Given the description of an element on the screen output the (x, y) to click on. 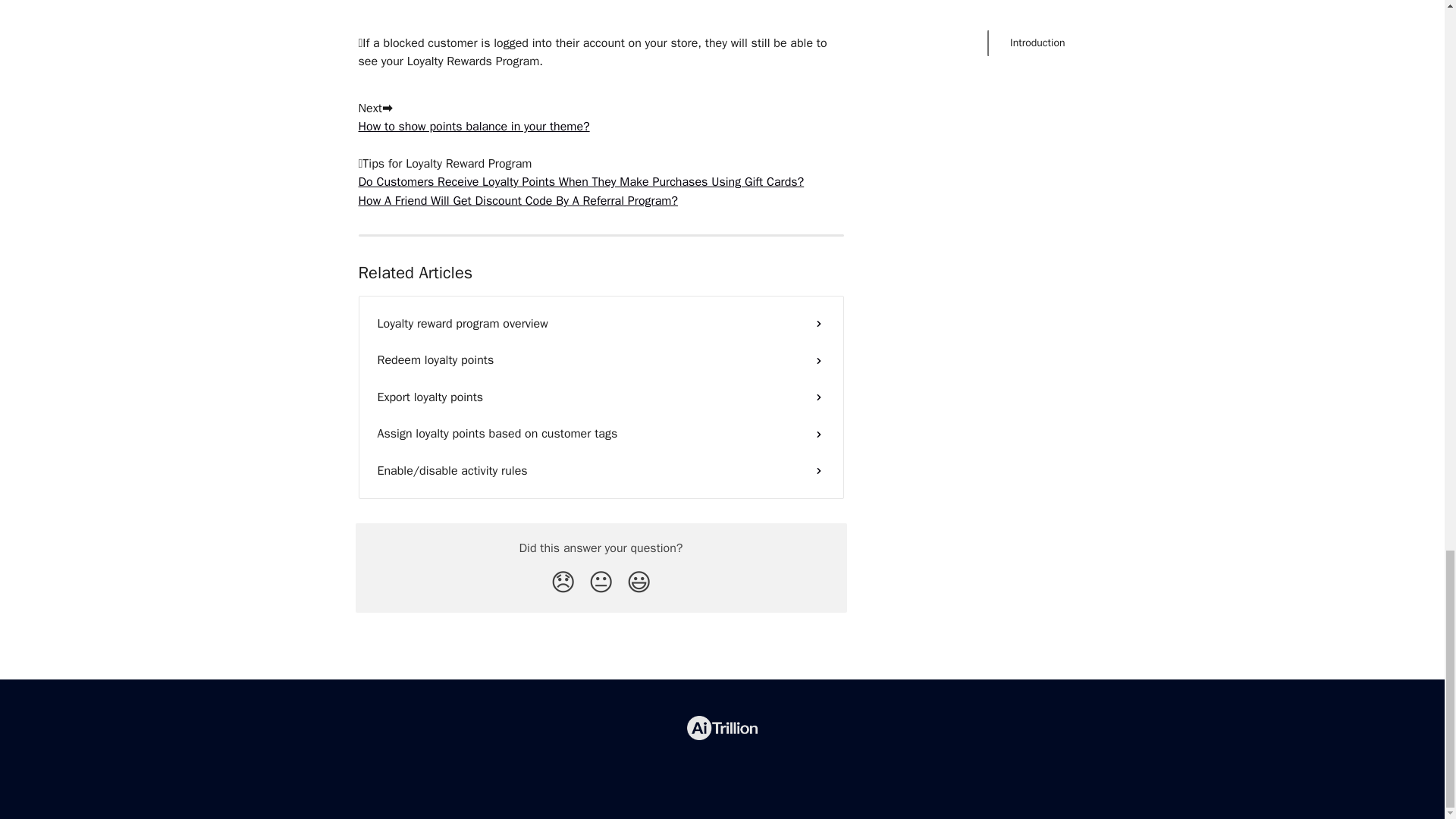
Redeem loyalty points (601, 360)
How A Friend Will Get Discount Code By A Referral Program? (517, 200)
Loyalty reward program overview (601, 323)
How to show points balance in your theme? (473, 126)
Assign loyalty points based on customer tags (601, 433)
Export loyalty points (601, 397)
